Given the description of an element on the screen output the (x, y) to click on. 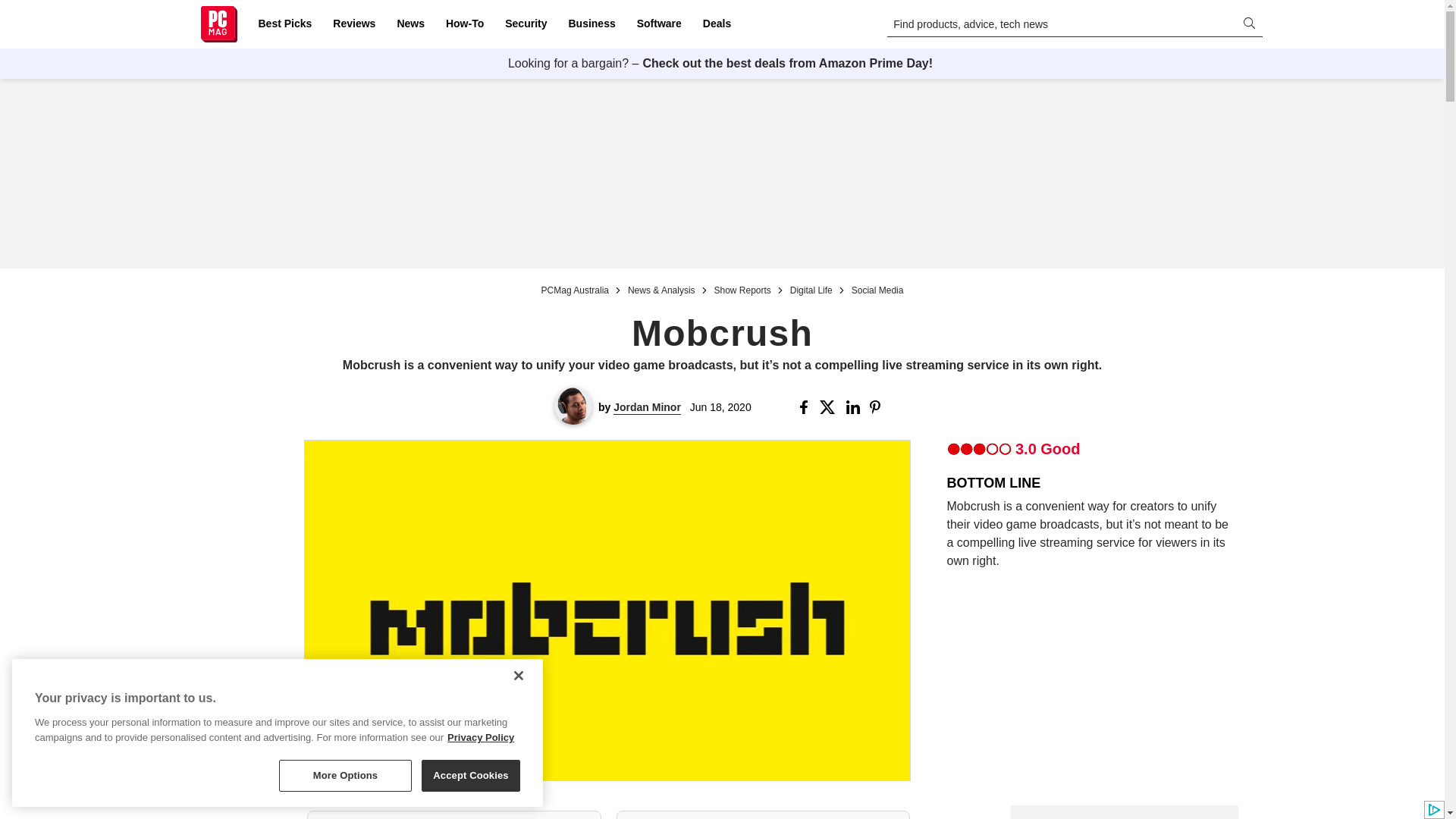
News (410, 24)
Security (526, 24)
How-To (464, 24)
Share this Story on Facebook (806, 407)
Best Picks (284, 24)
Reviews (353, 24)
Share this Story on Pinterest (879, 407)
Share this Story on X (829, 407)
Share this Story on Linkedin (854, 407)
Business (591, 24)
